Given the description of an element on the screen output the (x, y) to click on. 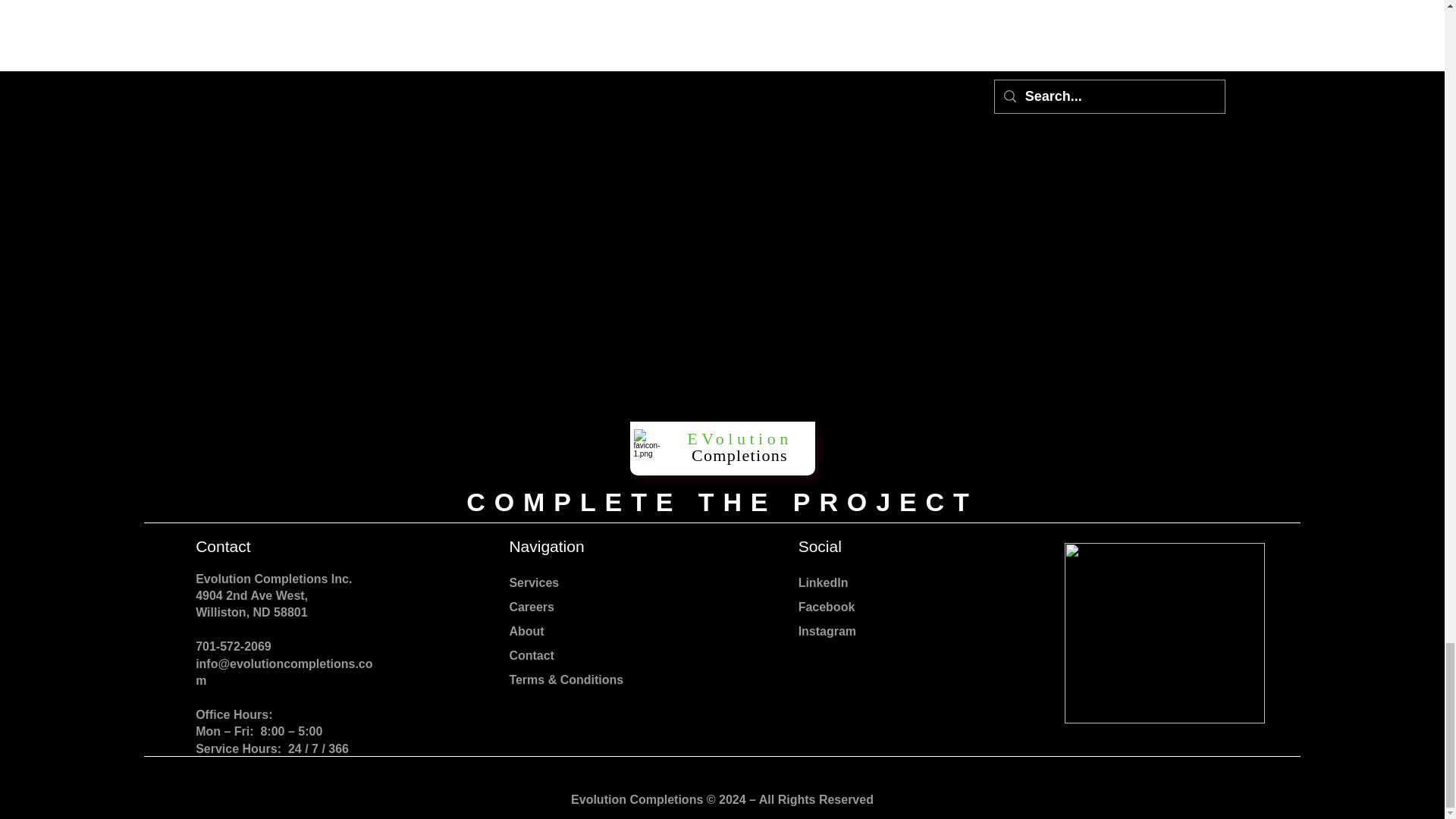
EVolution (739, 438)
About (525, 631)
Contact (531, 655)
701-572-2069 (232, 645)
Instagram (826, 631)
best-of-the-bakken-2019.png (1164, 632)
Facebook (826, 619)
LinkedIn (822, 582)
Services (533, 582)
Careers (531, 606)
Completions (739, 455)
